Given the description of an element on the screen output the (x, y) to click on. 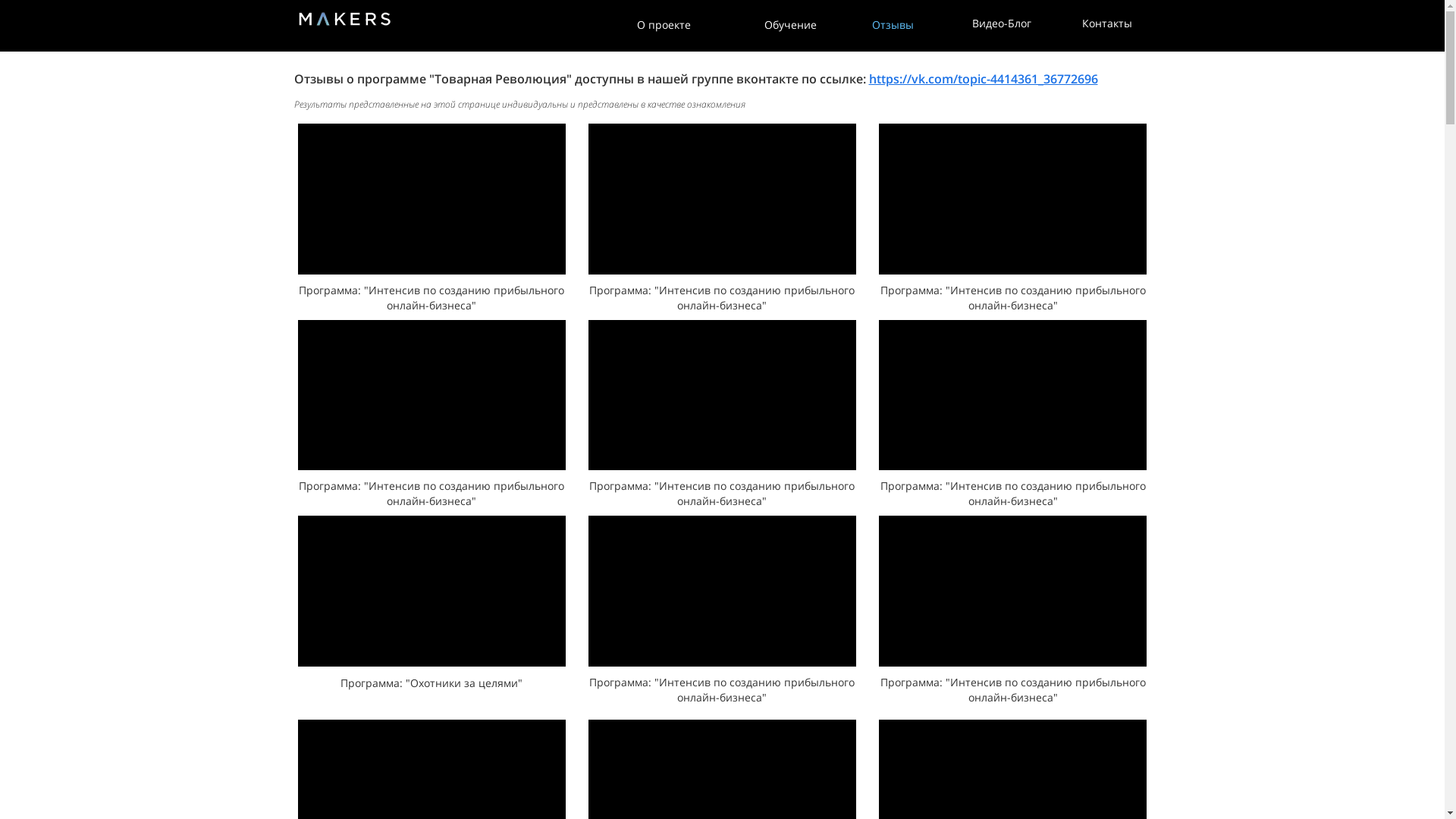
https://vk.com/topic-4414361_36772696 Element type: text (983, 78)
